Given the description of an element on the screen output the (x, y) to click on. 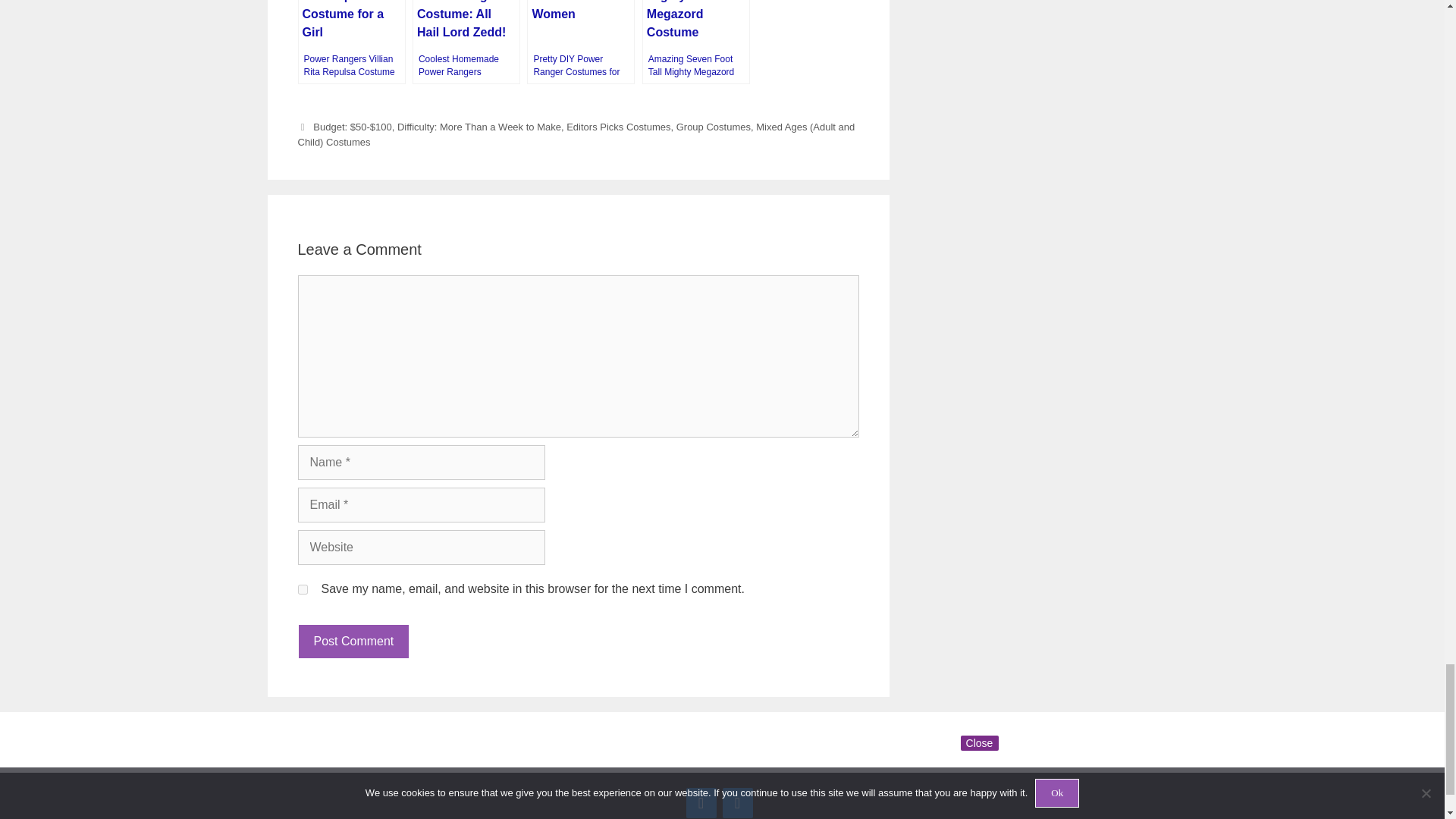
yes (302, 589)
Power Rangers Villian Rita Repulsa Costume for a Girl (350, 42)
Coolest Homemade Power Rangers Costume: All Hail Lord Zedd! (465, 42)
Amazing Seven Foot Tall Mighty Megazord Costume (695, 42)
Facebook (700, 802)
Pretty DIY Power Ranger Costumes for Women (580, 42)
Post Comment (353, 641)
